Given the description of an element on the screen output the (x, y) to click on. 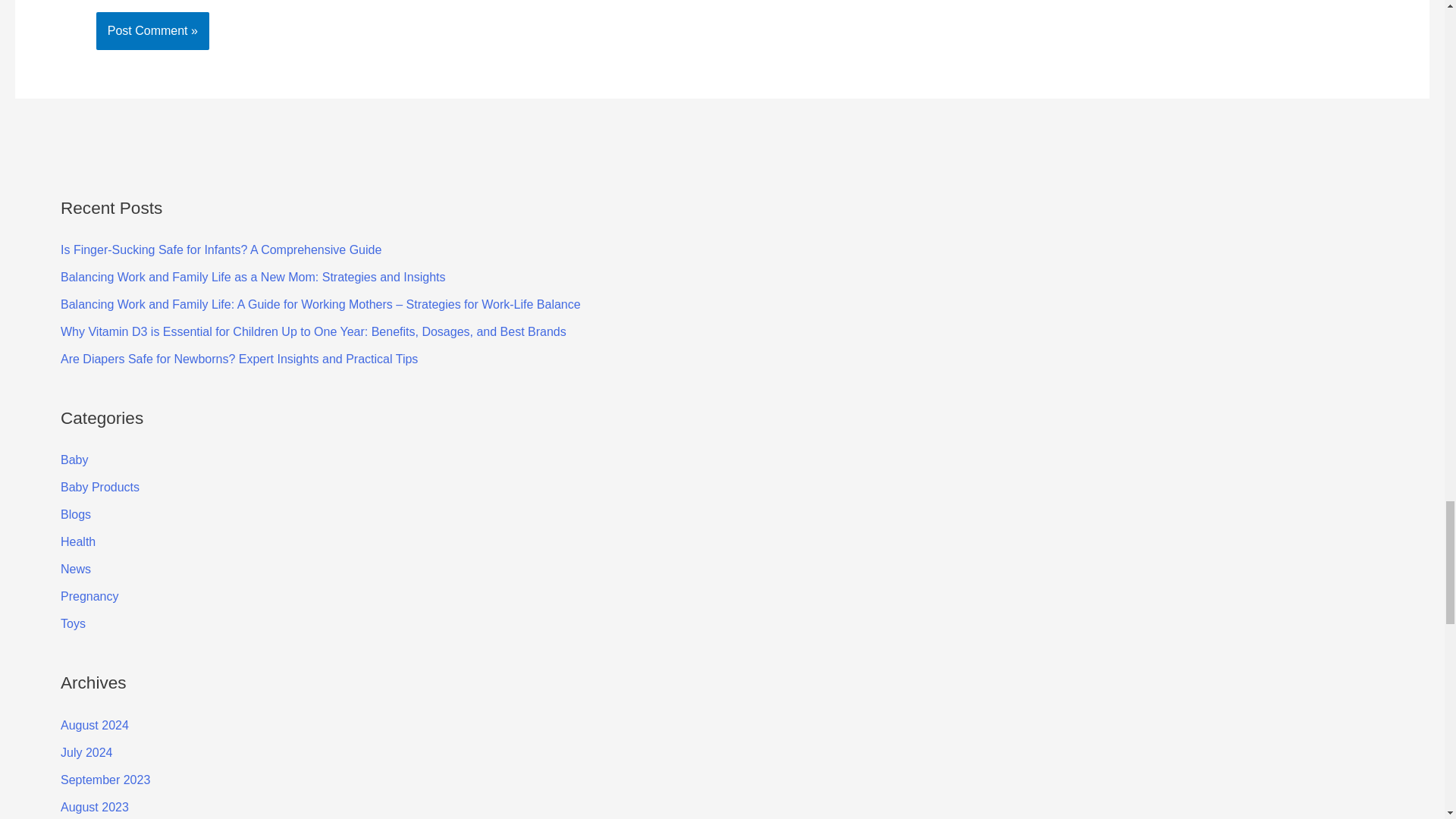
Is Finger-Sucking Safe for Infants? A Comprehensive Guide (221, 249)
September 2023 (105, 779)
August 2023 (95, 807)
August 2024 (95, 725)
Baby Products (100, 486)
July 2024 (87, 752)
Toys (73, 623)
Health (78, 541)
Blogs (75, 513)
News (75, 568)
Baby (74, 459)
Pregnancy (90, 595)
